Given the description of an element on the screen output the (x, y) to click on. 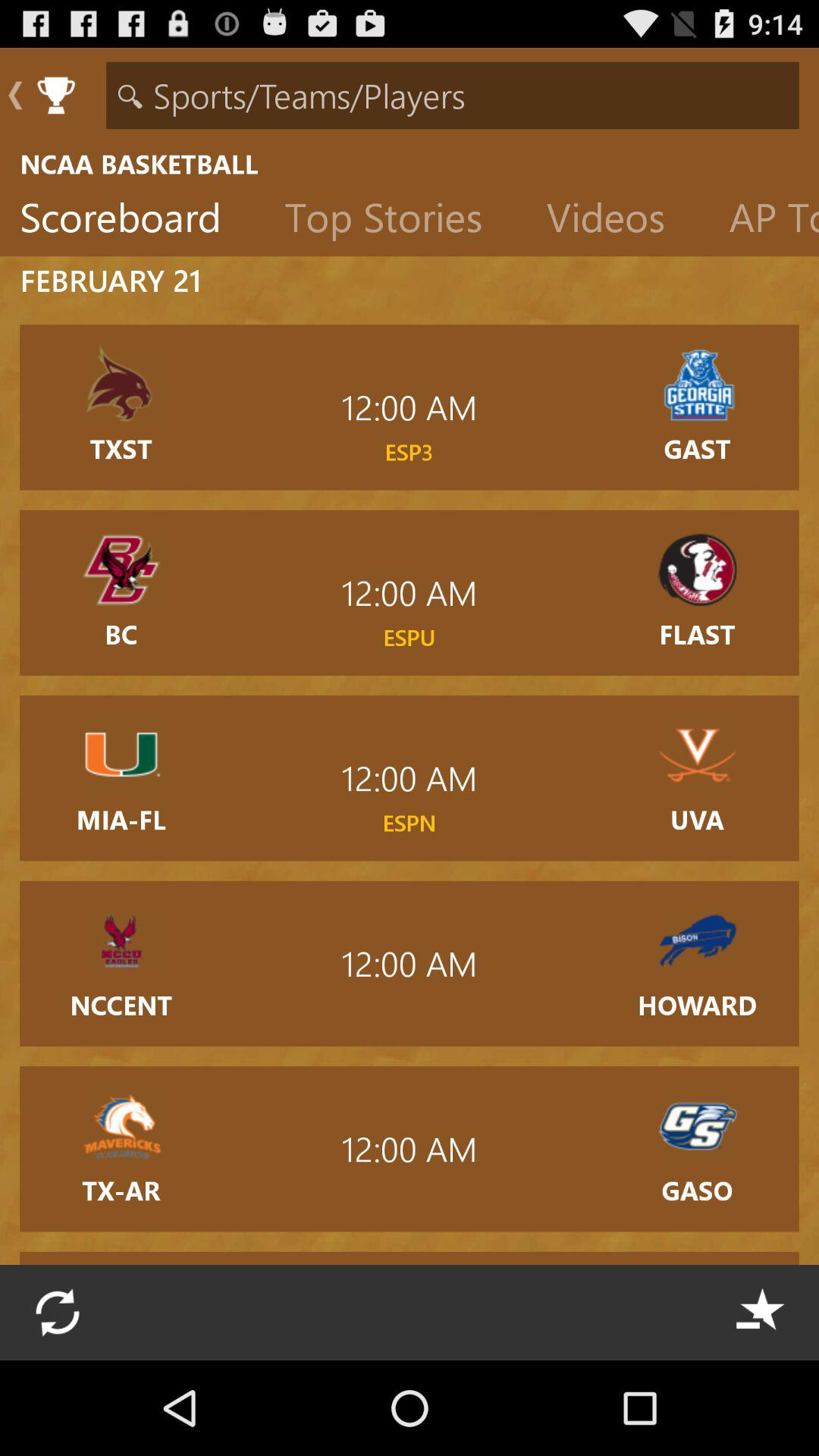
scroll to the ap top 25 item (764, 220)
